Given the description of an element on the screen output the (x, y) to click on. 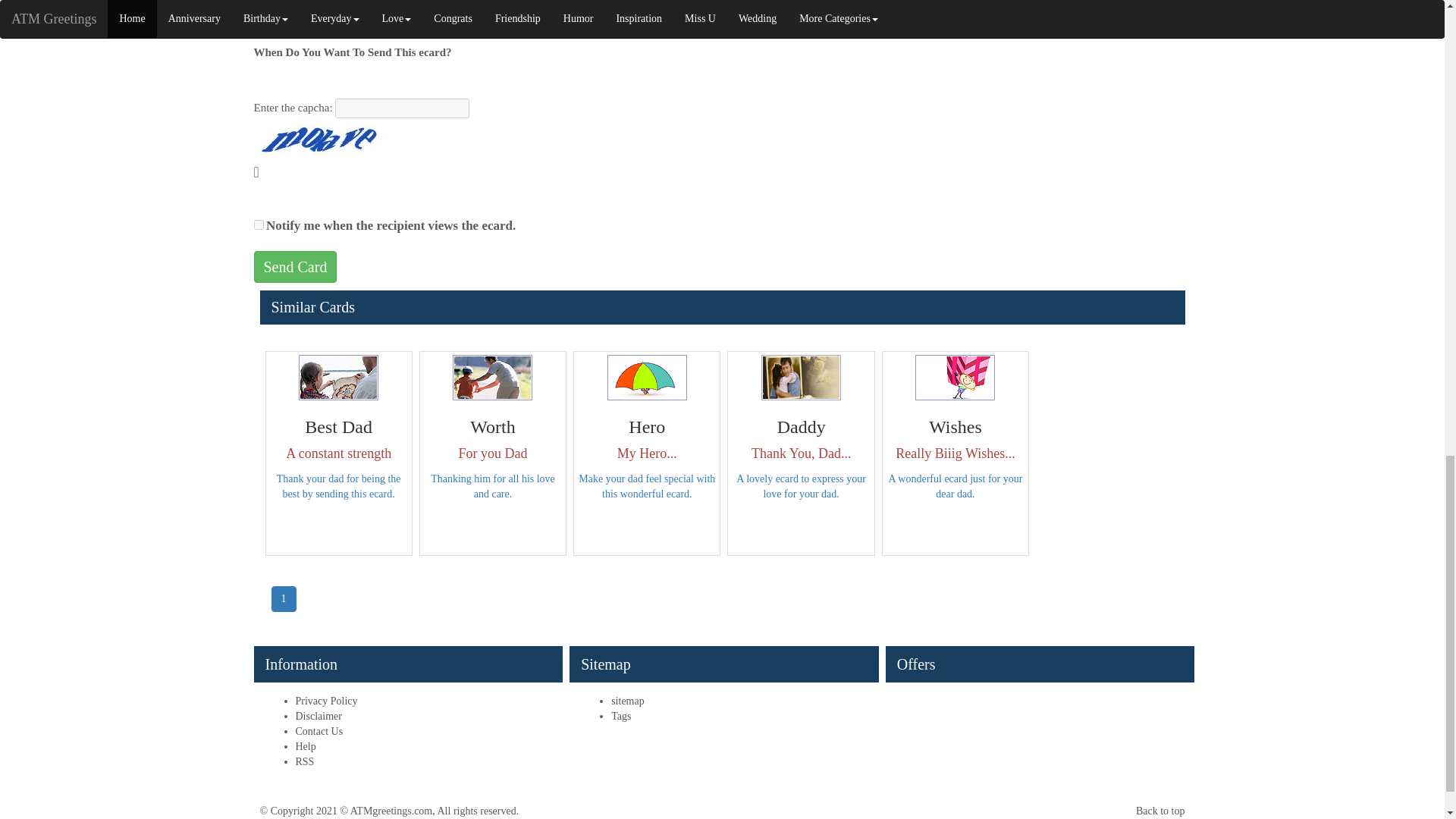
Really Biiig Wishes... (954, 377)
My Hero... (647, 377)
checked (258, 225)
Send Card (294, 266)
Thank You, Dad... (801, 377)
A constant strength (338, 377)
For you Dad (492, 377)
